Given the description of an element on the screen output the (x, y) to click on. 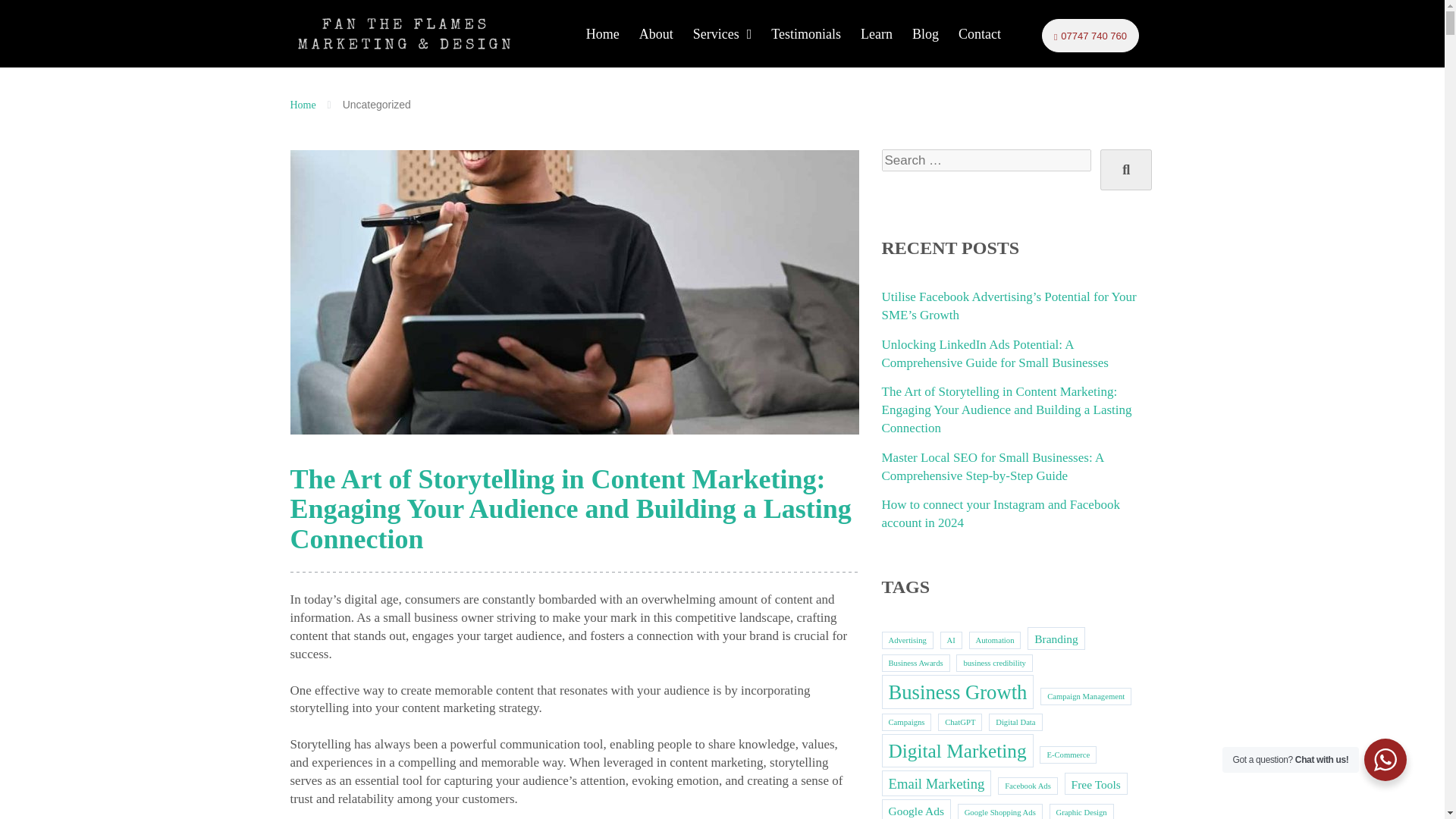
Contact (979, 33)
Testimonials (805, 33)
Learn (876, 33)
Search for: (985, 160)
07747 740 760 (1090, 35)
About (655, 33)
Services (721, 33)
Home (602, 33)
Home (302, 104)
Blog (925, 33)
